Given the description of an element on the screen output the (x, y) to click on. 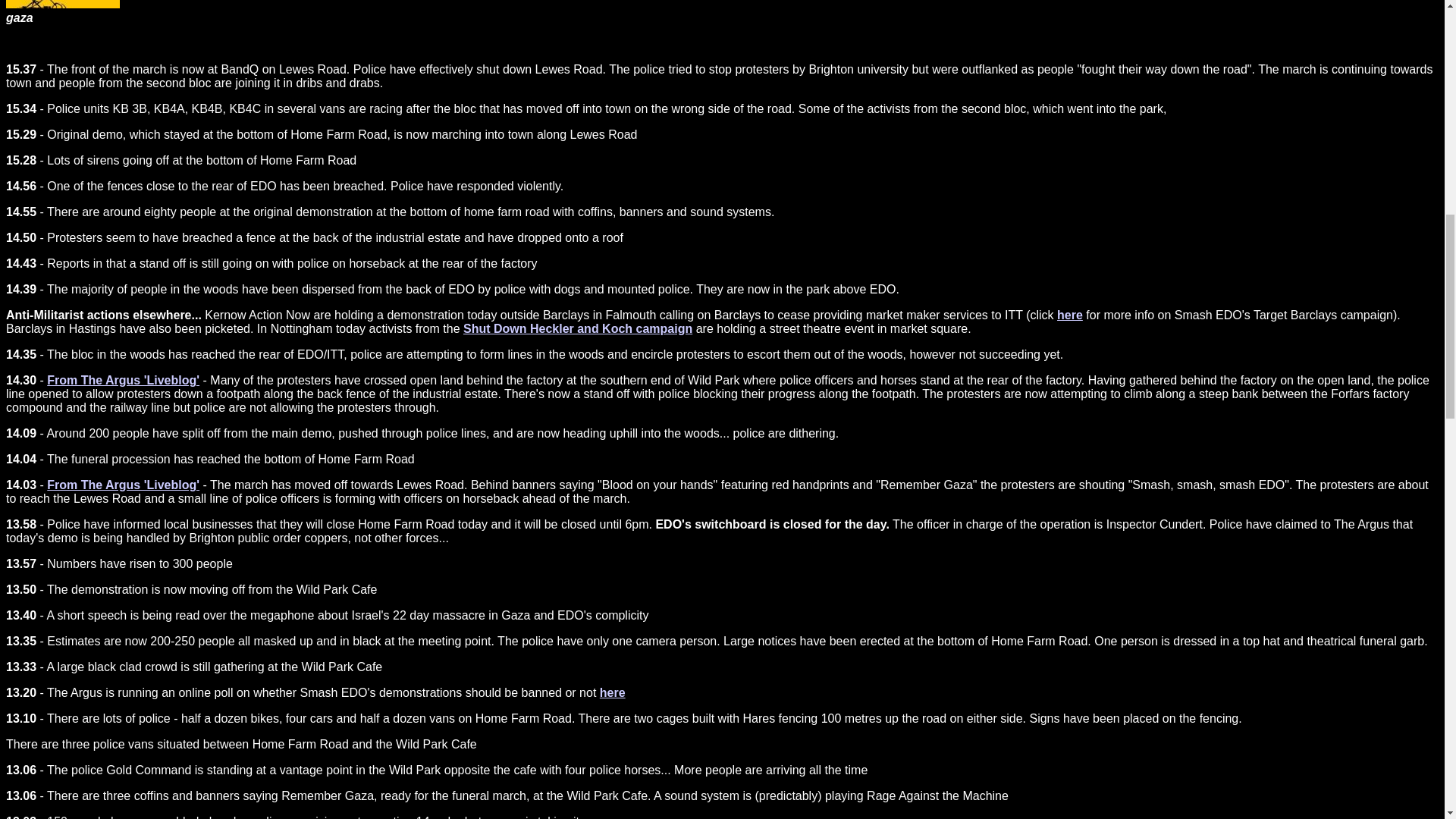
here (612, 692)
From The Argus 'Liveblog' (122, 484)
here (1070, 314)
Shut Down Heckler and Koch campaign (578, 328)
From The Argus 'Liveblog' (122, 379)
